Given the description of an element on the screen output the (x, y) to click on. 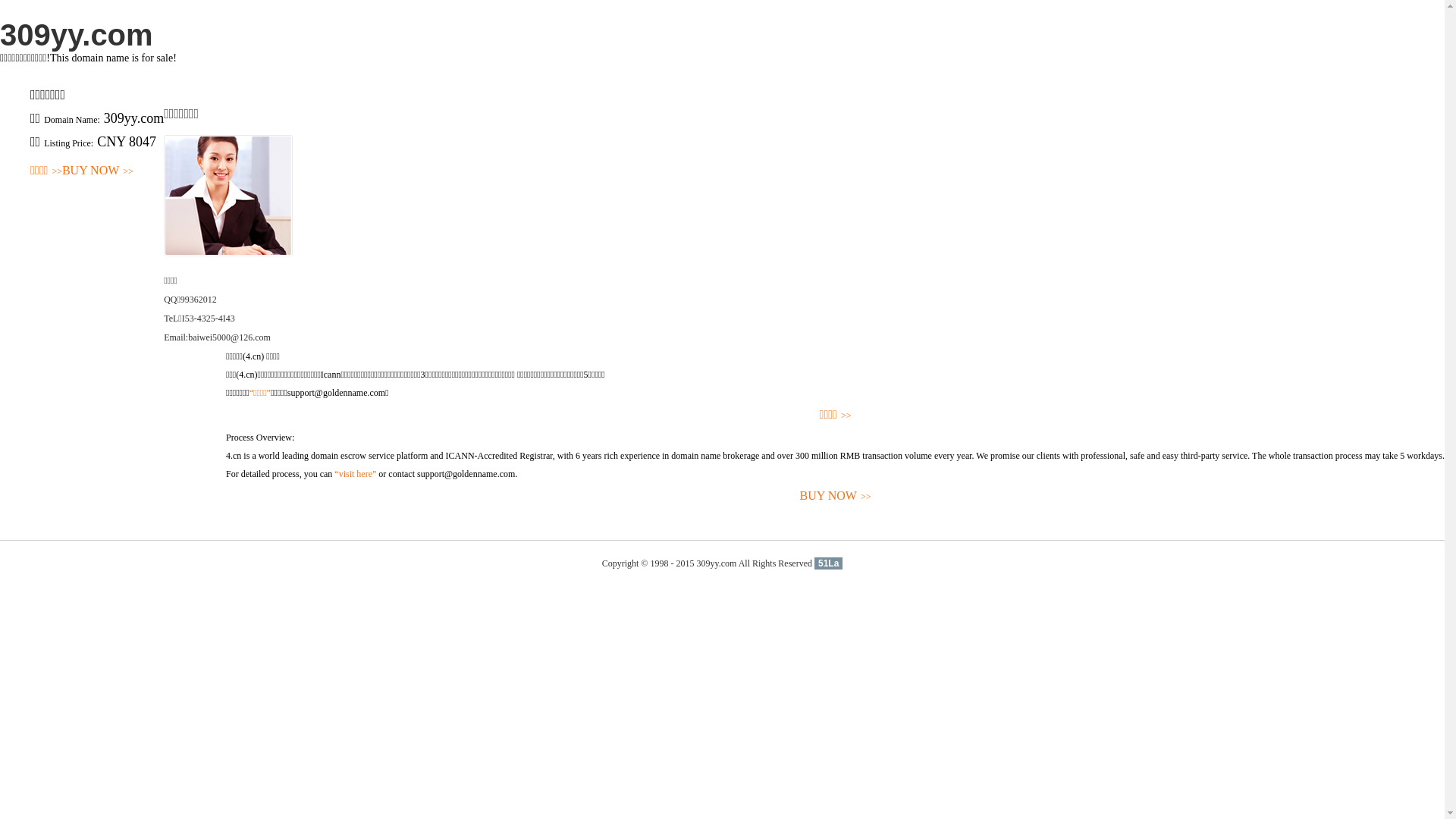
51La Element type: text (828, 563)
BUY NOW>> Element type: text (834, 496)
BUY NOW>> Element type: text (97, 170)
